Given the description of an element on the screen output the (x, y) to click on. 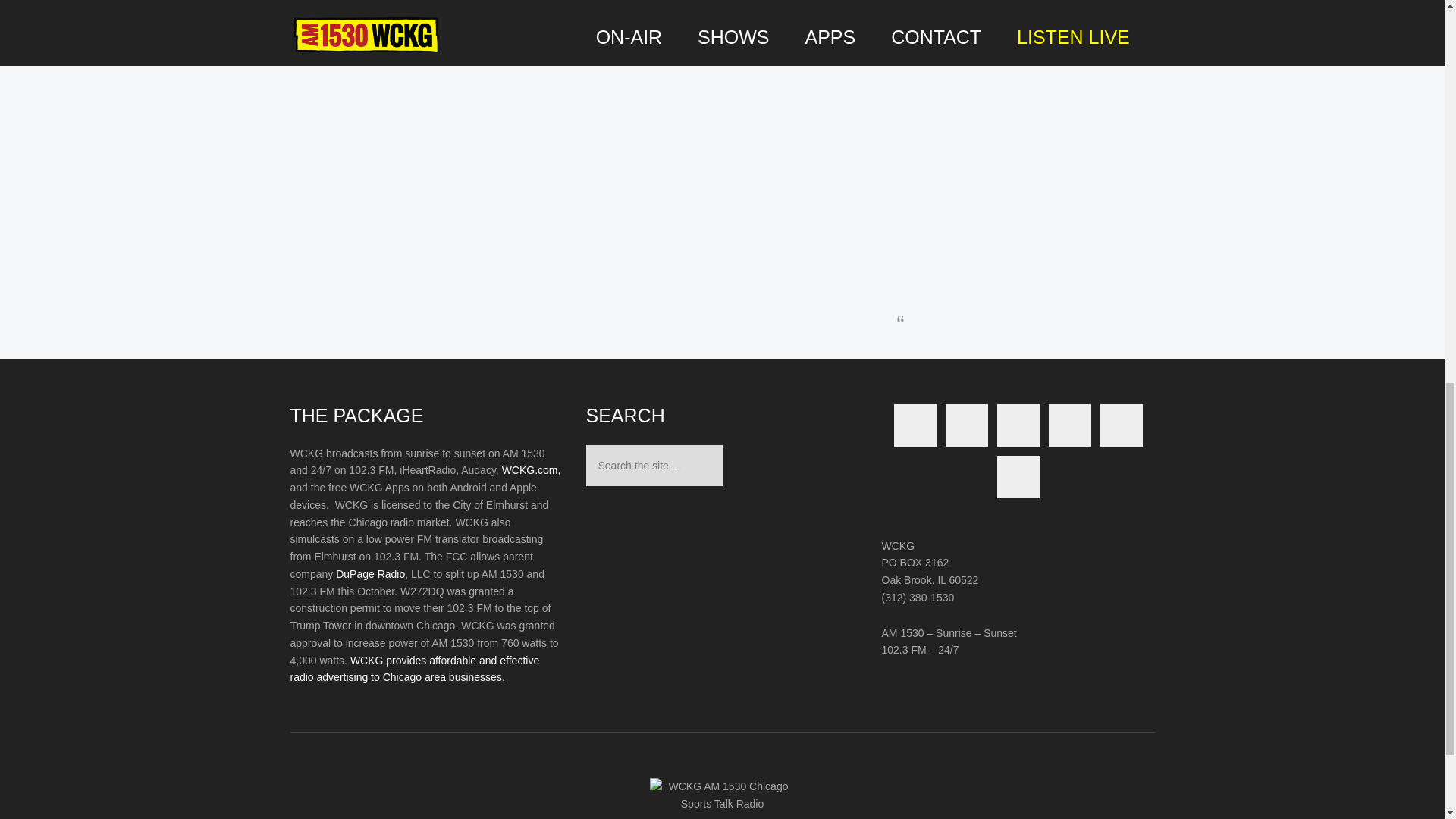
Page 1 (425, 565)
